Given the description of an element on the screen output the (x, y) to click on. 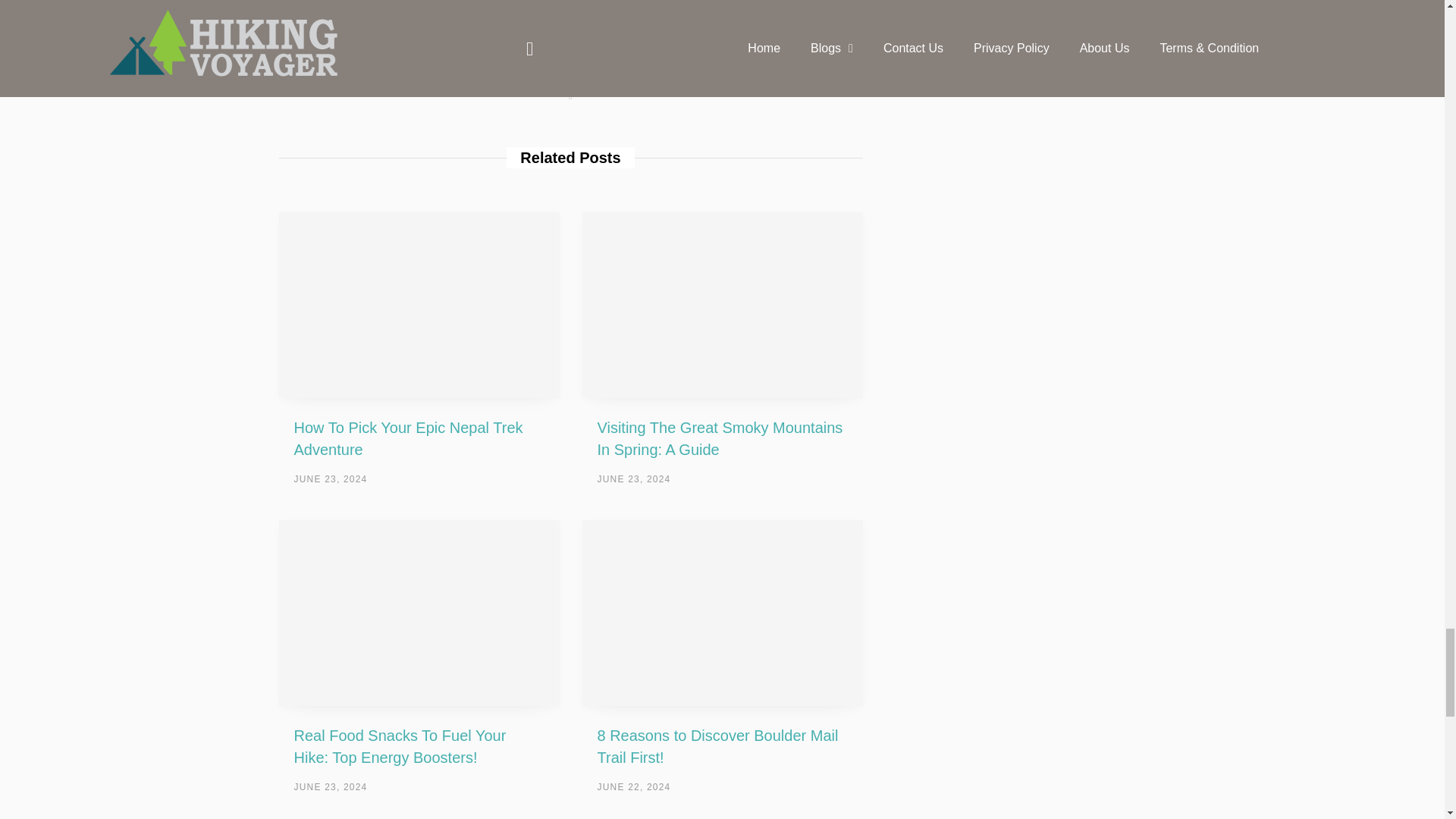
Posts by Steven Johnson (569, 54)
How To Pick Your Epic Nepal Trek Adventure (419, 305)
